Given the description of an element on the screen output the (x, y) to click on. 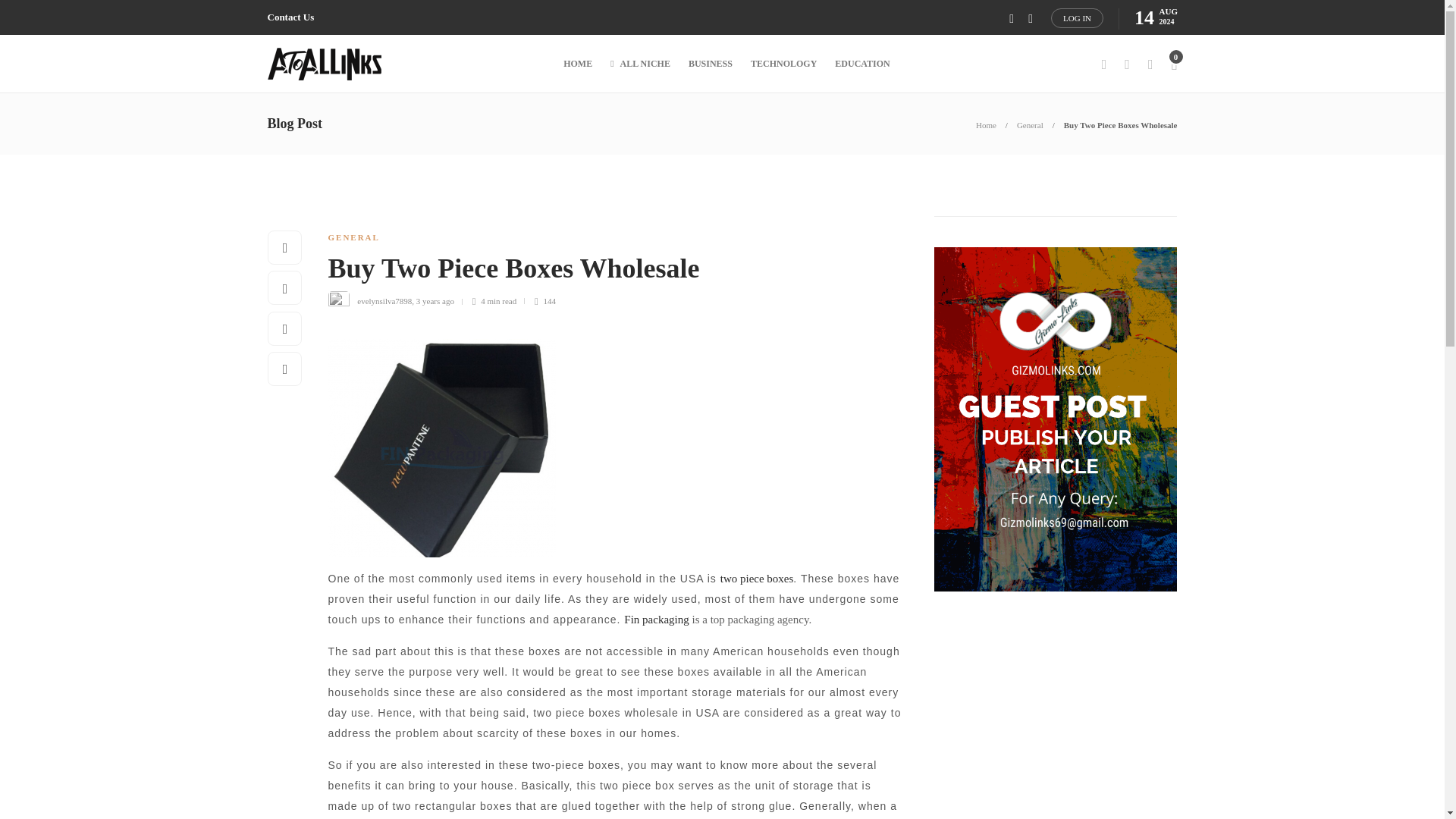
Home (985, 124)
General (1029, 124)
Buy Two Piece Boxes Wholesale (1120, 124)
TECHNOLOGY (783, 63)
Contact Us (290, 17)
GENERAL (352, 236)
EDUCATION (861, 63)
3 years ago (435, 300)
Buy Two Piece Boxes Wholesale  (603, 272)
evelynsilva7898 (384, 300)
